Given the description of an element on the screen output the (x, y) to click on. 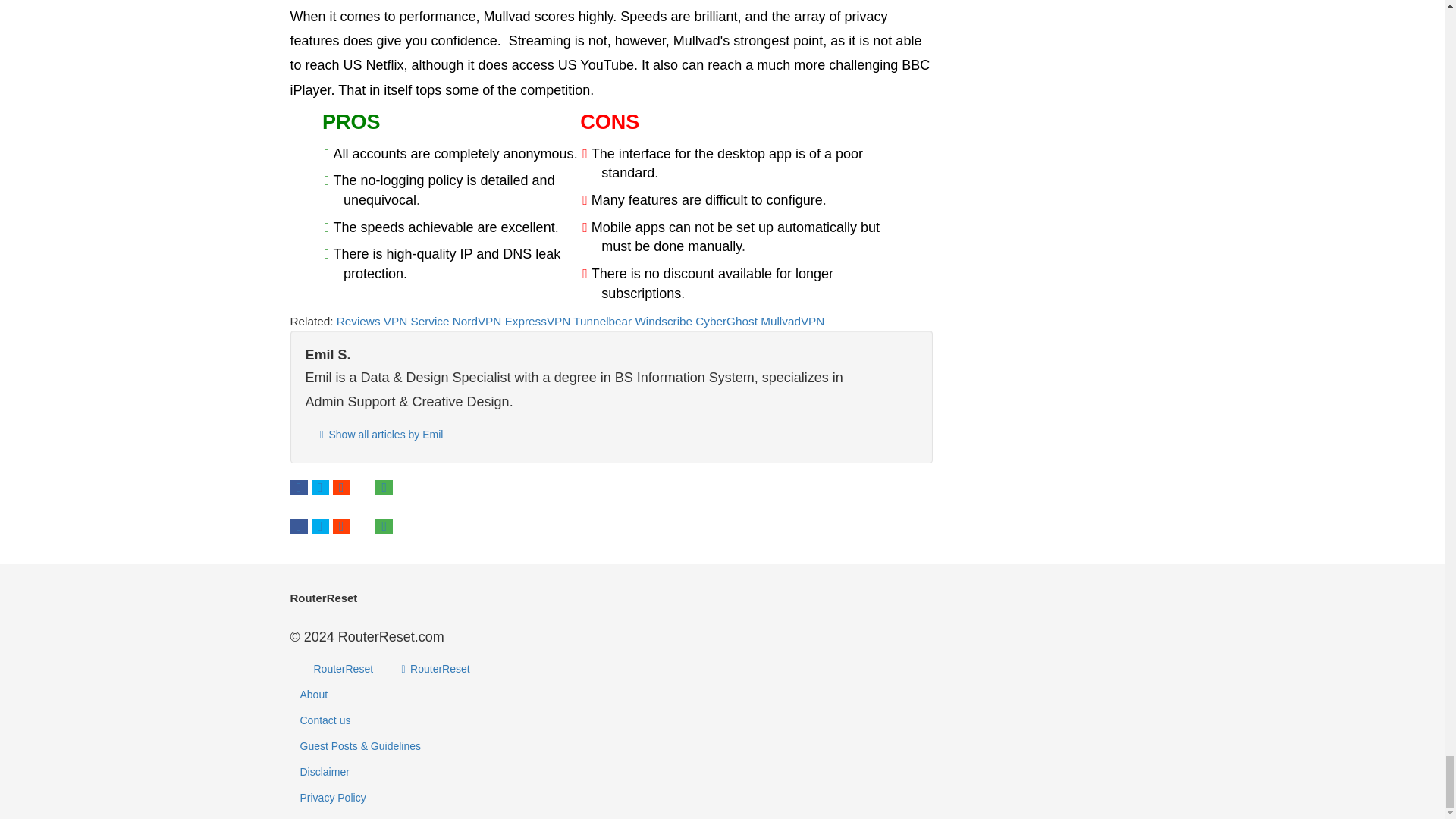
Share on Facebook (298, 525)
Share on Reddit (341, 525)
Share by e-mail (384, 525)
Tweet this page (320, 525)
Share on VK (362, 525)
Share on Reddit (341, 487)
Share on VK (362, 487)
Tweet this page (320, 487)
Share by e-mail (384, 487)
Share on Facebook (298, 487)
